Given the description of an element on the screen output the (x, y) to click on. 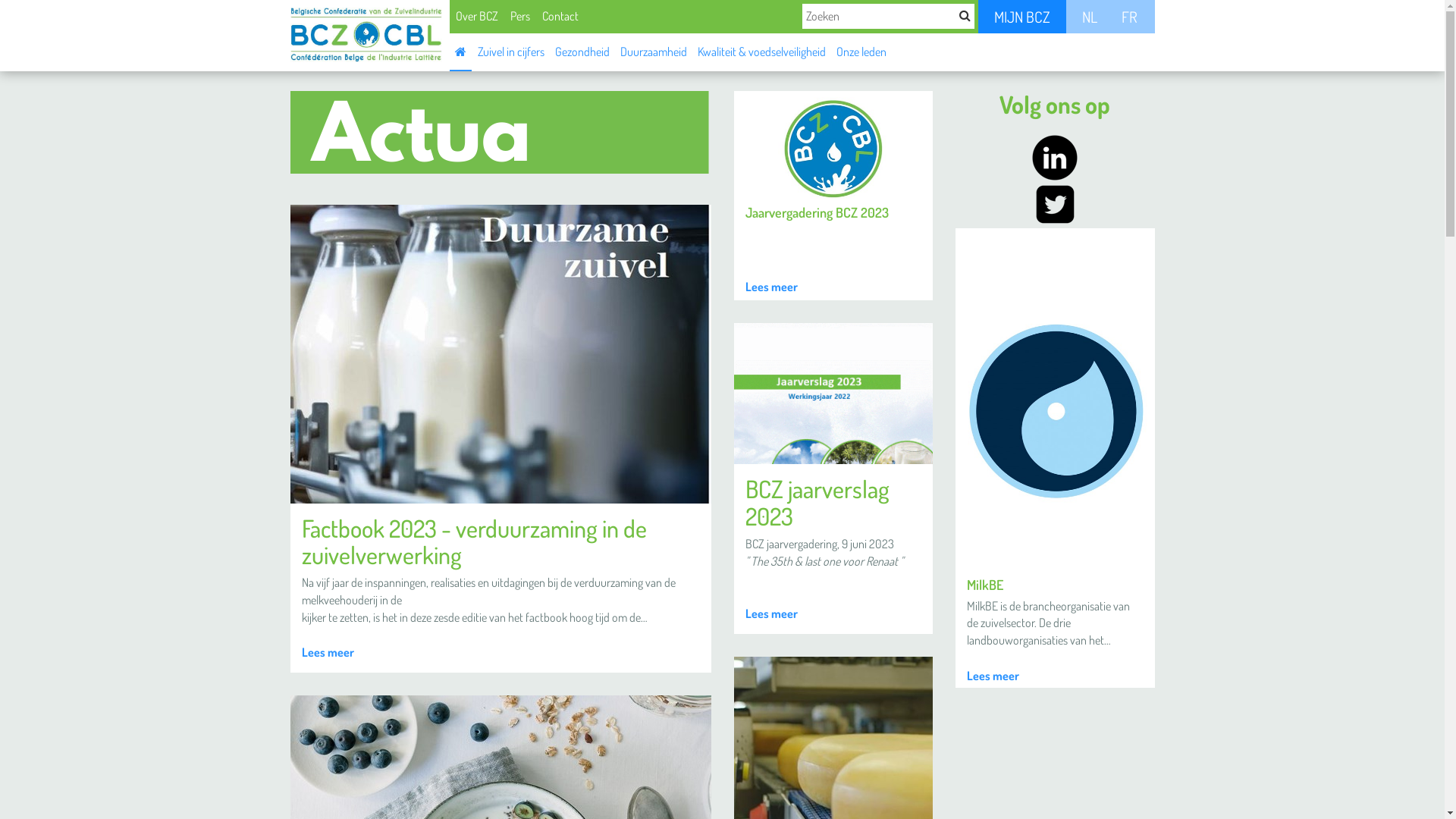
Pers Element type: text (519, 15)
Gezondheid Element type: text (581, 50)
Kwaliteit & voedselveiligheid Element type: text (760, 50)
Lees meer Element type: text (327, 652)
Jaarvergadering BCZ 2023
Lees meer Element type: text (833, 195)
BCZ jaarverslag 2023 Element type: text (816, 501)
Zuivel in cijfers Element type: text (510, 50)
Duurzaamheid Element type: text (652, 50)
FR Element type: text (1128, 16)
Contact Element type: text (559, 15)
Onze leden Element type: text (861, 50)
Lees meer Element type: text (770, 613)
Factbook 2023 - verduurzaming in de zuivelverwerking Element type: text (473, 541)
Over BCZ Element type: text (475, 15)
NL Element type: text (1089, 16)
MIJN BCZ Element type: text (1022, 16)
